Given the description of an element on the screen output the (x, y) to click on. 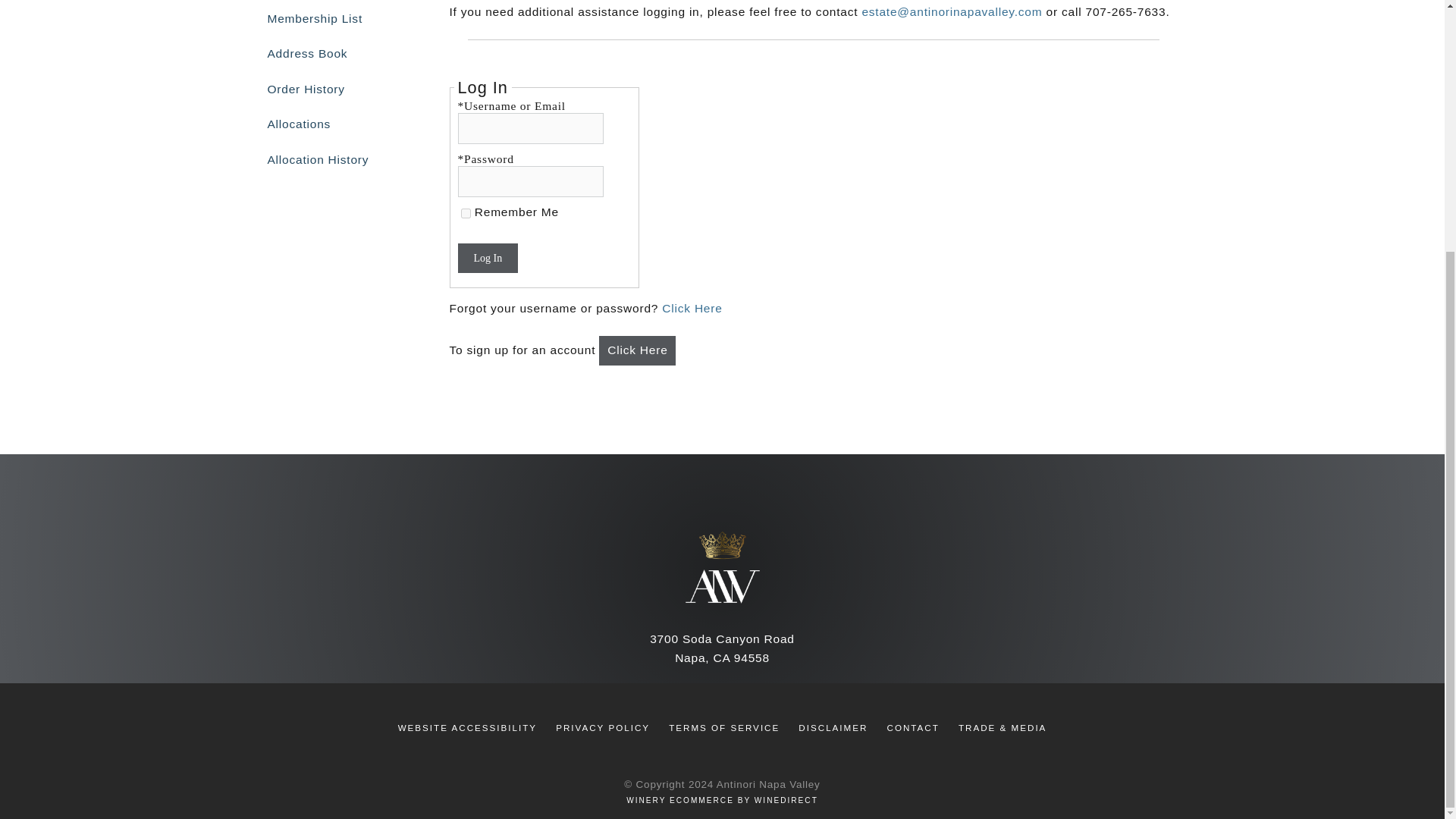
Click Here (636, 350)
WEBSITE ACCESSIBILITY (467, 727)
Allocations (334, 123)
PRIVACY POLICY (602, 727)
Click Here (692, 308)
Membership List (334, 18)
TERMS OF SERVICE (723, 727)
CONTACT (912, 727)
Allocation History (334, 159)
Address Book (334, 53)
